Given the description of an element on the screen output the (x, y) to click on. 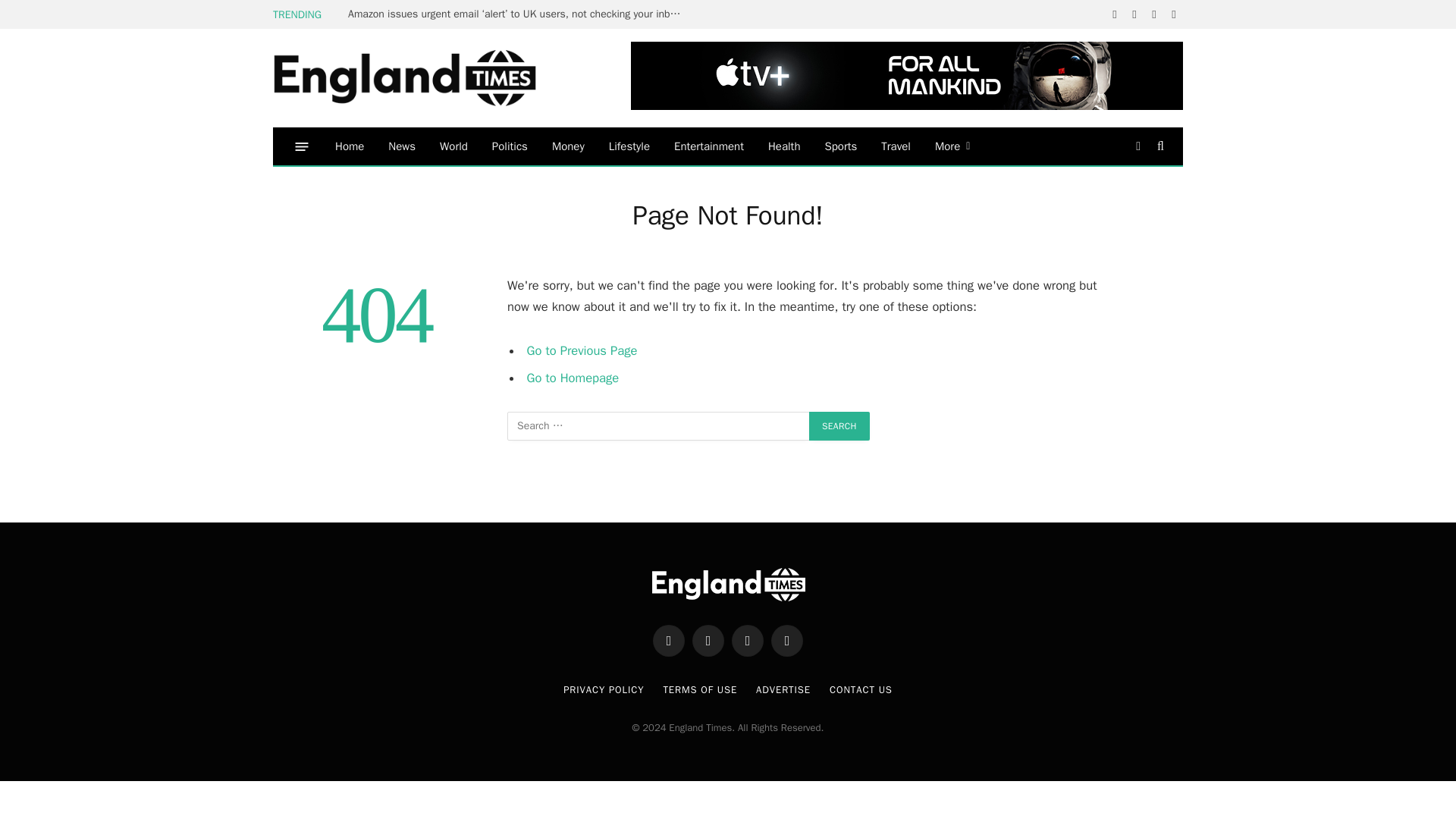
Switch to Dark Design - easier on eyes. (1138, 146)
Search (839, 425)
England Times (428, 78)
Search (839, 425)
Search (1158, 145)
